Given the description of an element on the screen output the (x, y) to click on. 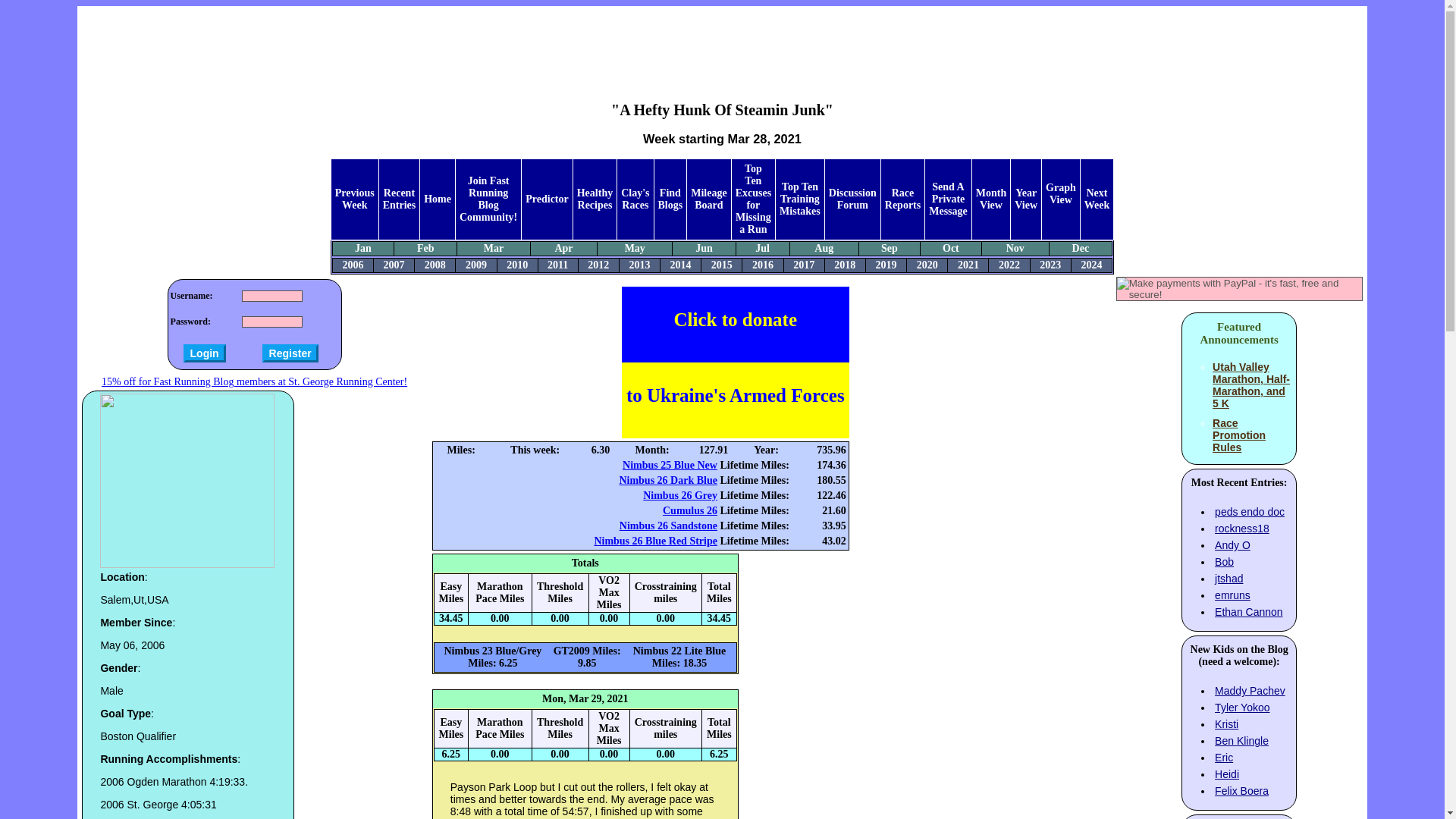
Dec (1080, 247)
Jan (363, 247)
2006 (352, 265)
Sep (889, 247)
2013 (638, 265)
Race Reports (902, 198)
Login (204, 352)
Year View (1025, 198)
Discussion Forum (852, 198)
Graph View (1060, 193)
Find Blogs (670, 198)
2010 (516, 265)
May (634, 247)
2009 (475, 265)
Jun (704, 247)
